Given the description of an element on the screen output the (x, y) to click on. 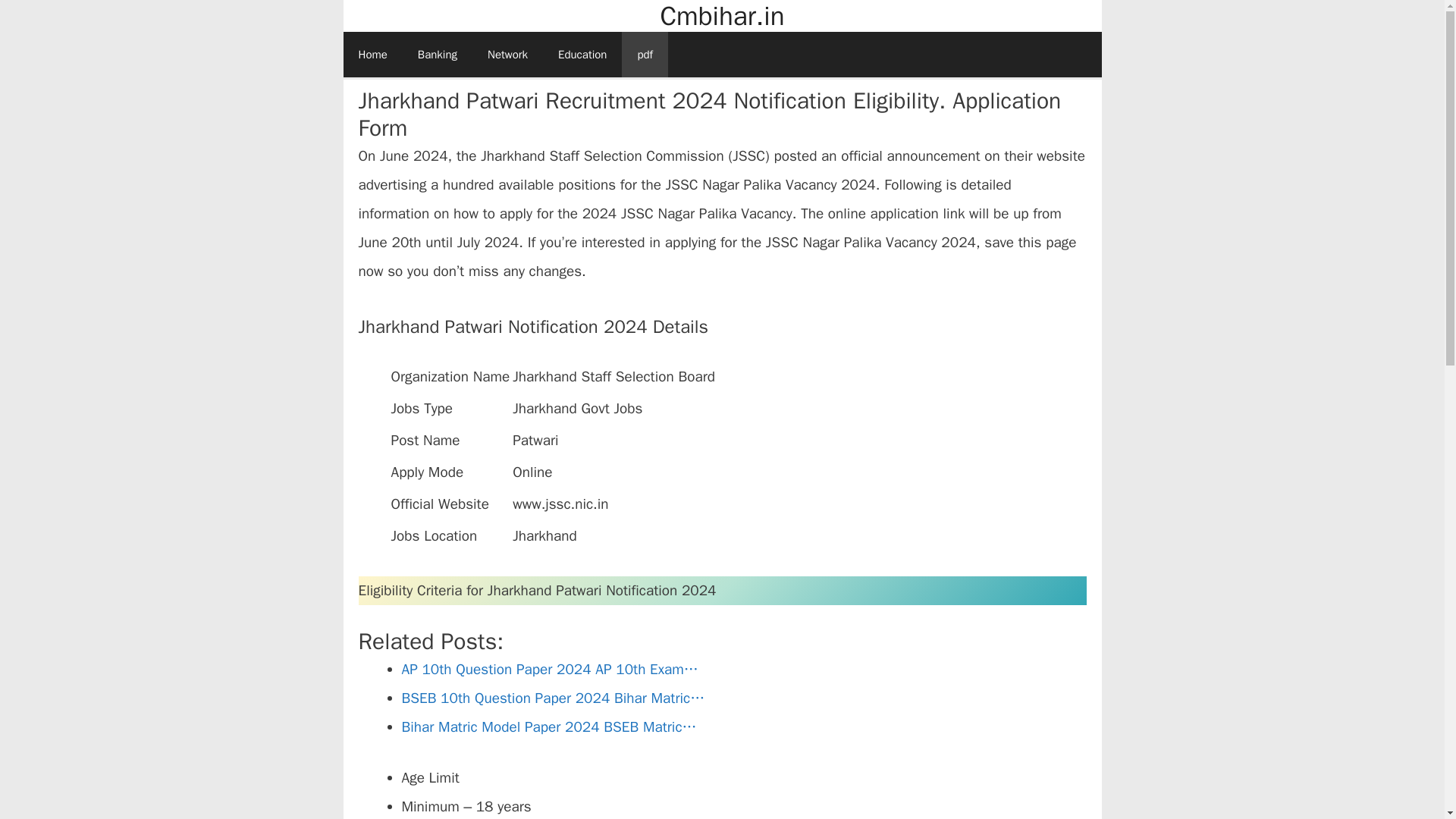
Network (507, 53)
pdf (644, 53)
Cmbihar.in (721, 16)
Banking (437, 53)
Education (582, 53)
Home (371, 53)
